Given the description of an element on the screen output the (x, y) to click on. 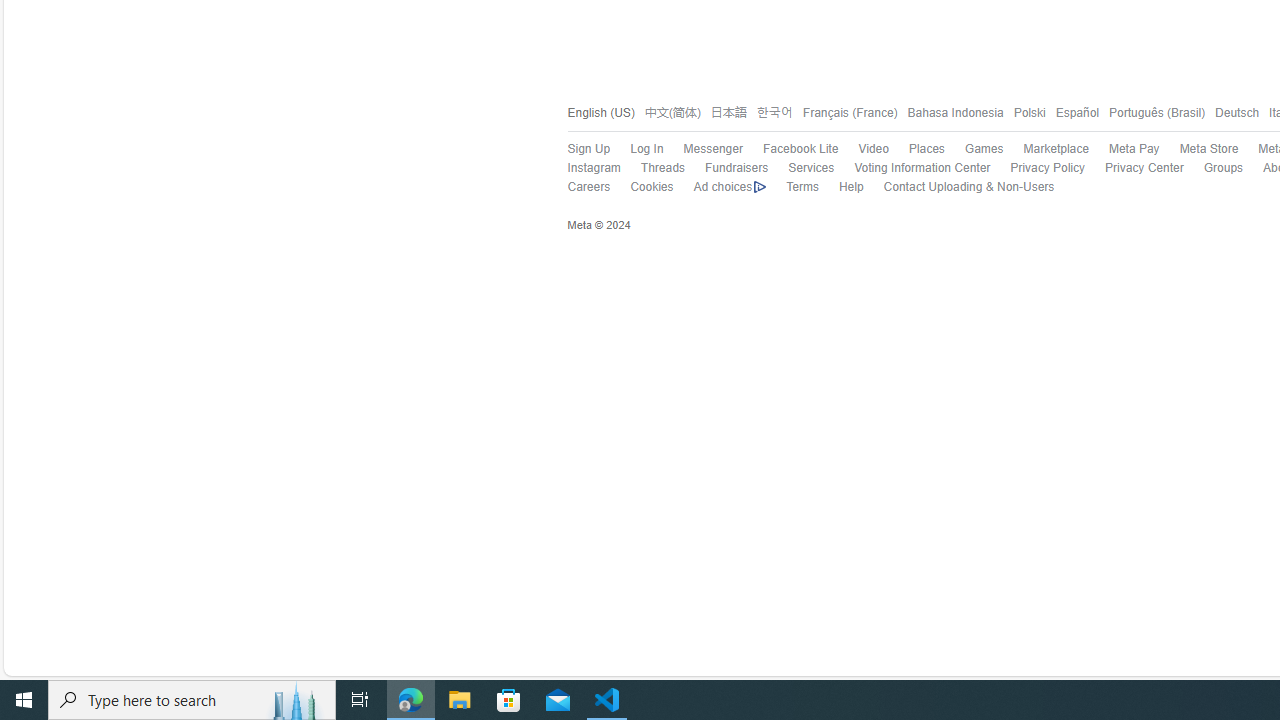
Groups (1213, 169)
Log In (637, 149)
Privacy Center (1134, 169)
Games (983, 148)
Polski (1024, 112)
Log In (646, 148)
Terms (792, 187)
Privacy Center (1144, 168)
Video (873, 148)
Instagram (593, 168)
Messenger (702, 149)
Games (973, 149)
